Given the description of an element on the screen output the (x, y) to click on. 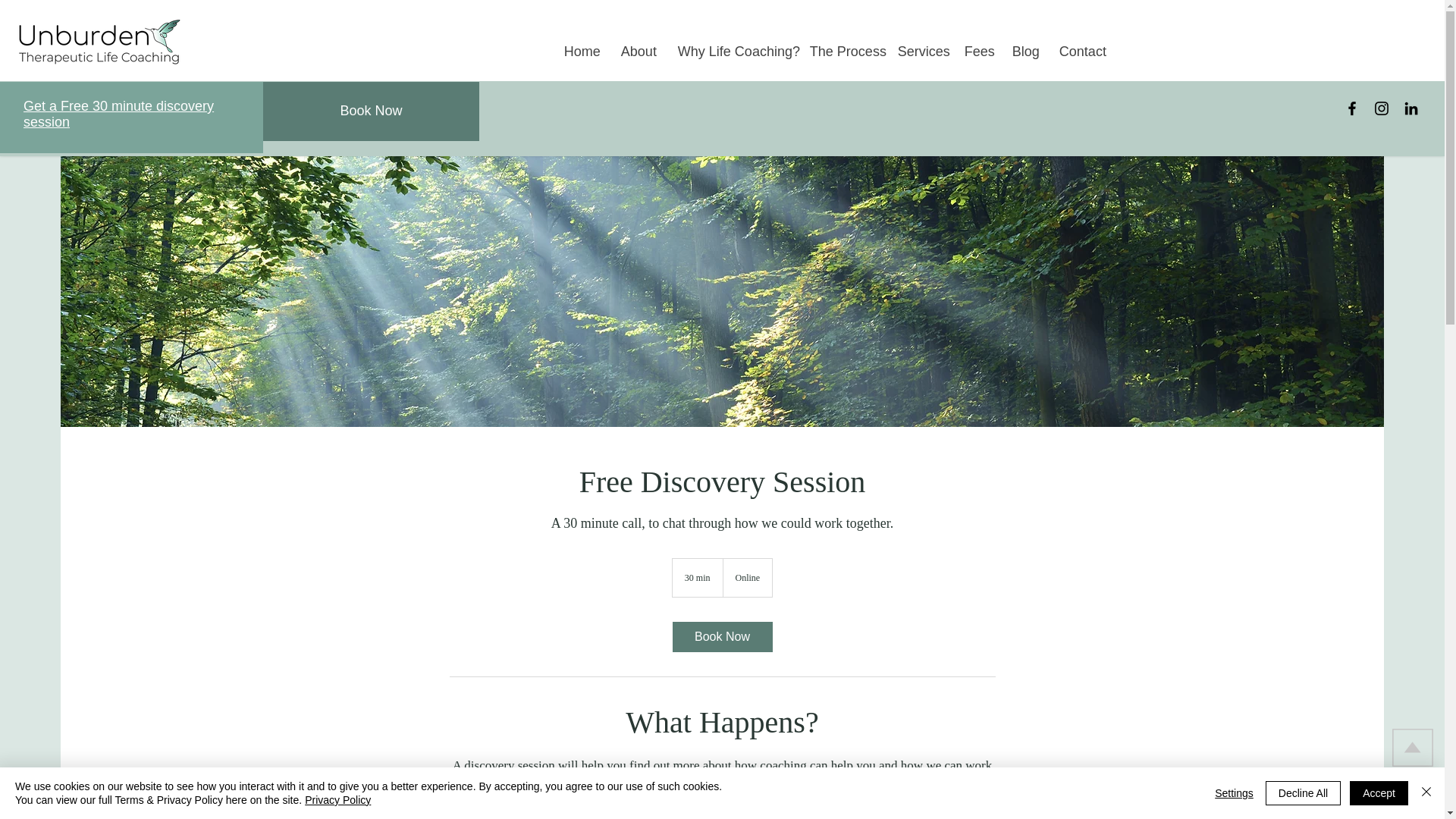
Accept (1378, 793)
Decline All (1302, 793)
Unburden v1-LightBlk.png (98, 41)
About (638, 51)
Home (581, 51)
The Process (841, 51)
Services (919, 51)
Fees (977, 51)
Get a Free 30 minute discovery session (118, 113)
Contact (1081, 51)
Blog (1024, 51)
Book Now (721, 636)
Book Now (371, 110)
Why Life Coaching? (731, 51)
Privacy Policy (337, 799)
